Given the description of an element on the screen output the (x, y) to click on. 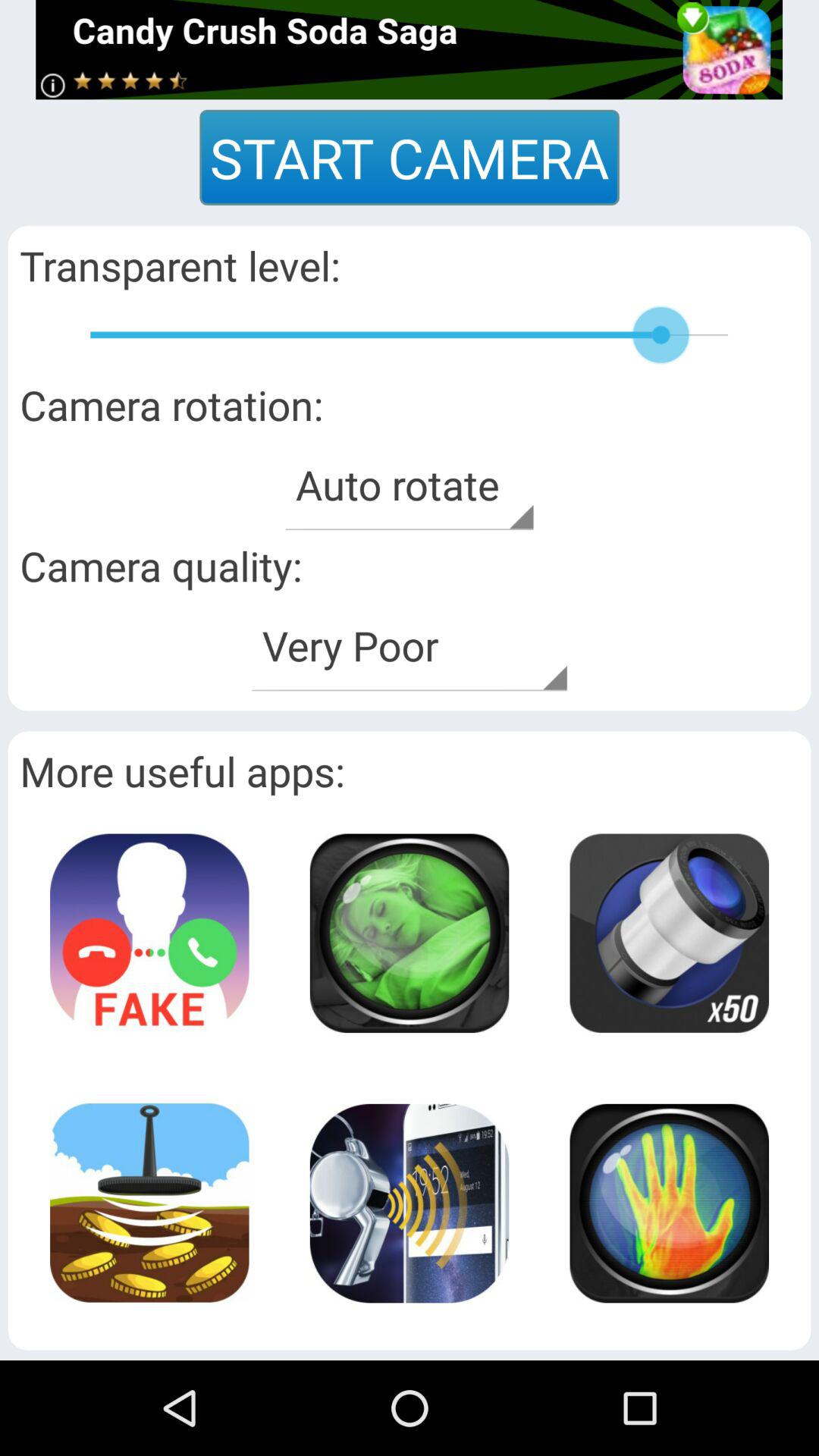
picture page (149, 1202)
